Given the description of an element on the screen output the (x, y) to click on. 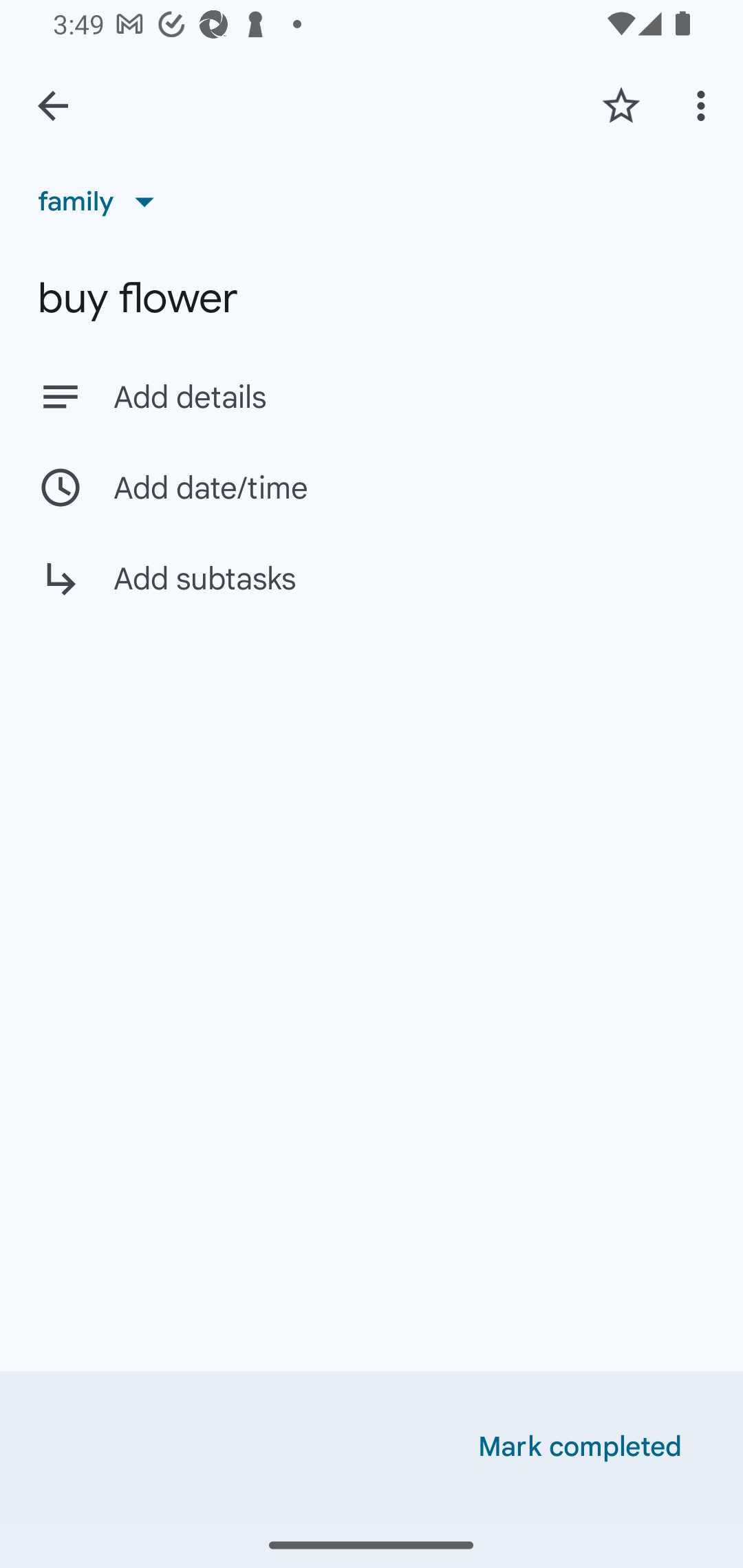
Back (53, 105)
Add star (620, 105)
More options (704, 105)
family List, family selected, 1 of 19 (102, 201)
buy flower (371, 298)
Add details (371, 396)
Add details (409, 397)
Add date/time (371, 487)
Add subtasks (371, 593)
Mark completed (580, 1446)
